Given the description of an element on the screen output the (x, y) to click on. 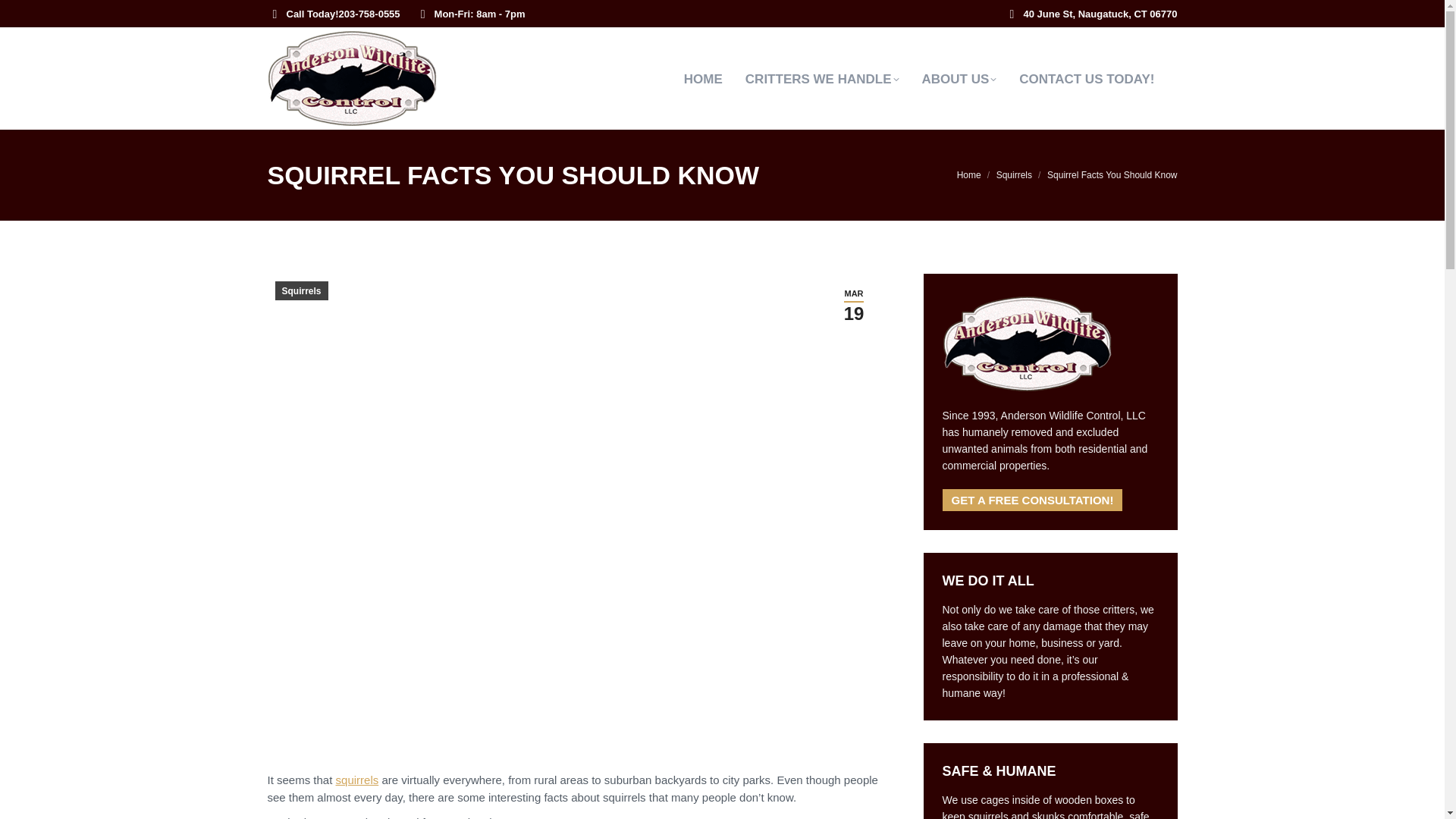
Squirrels (1013, 174)
8:13 pm (853, 305)
HOME (714, 78)
CRITTERS WE HANDLE (833, 78)
Home (968, 174)
203-758-0555 (369, 12)
